Given the description of an element on the screen output the (x, y) to click on. 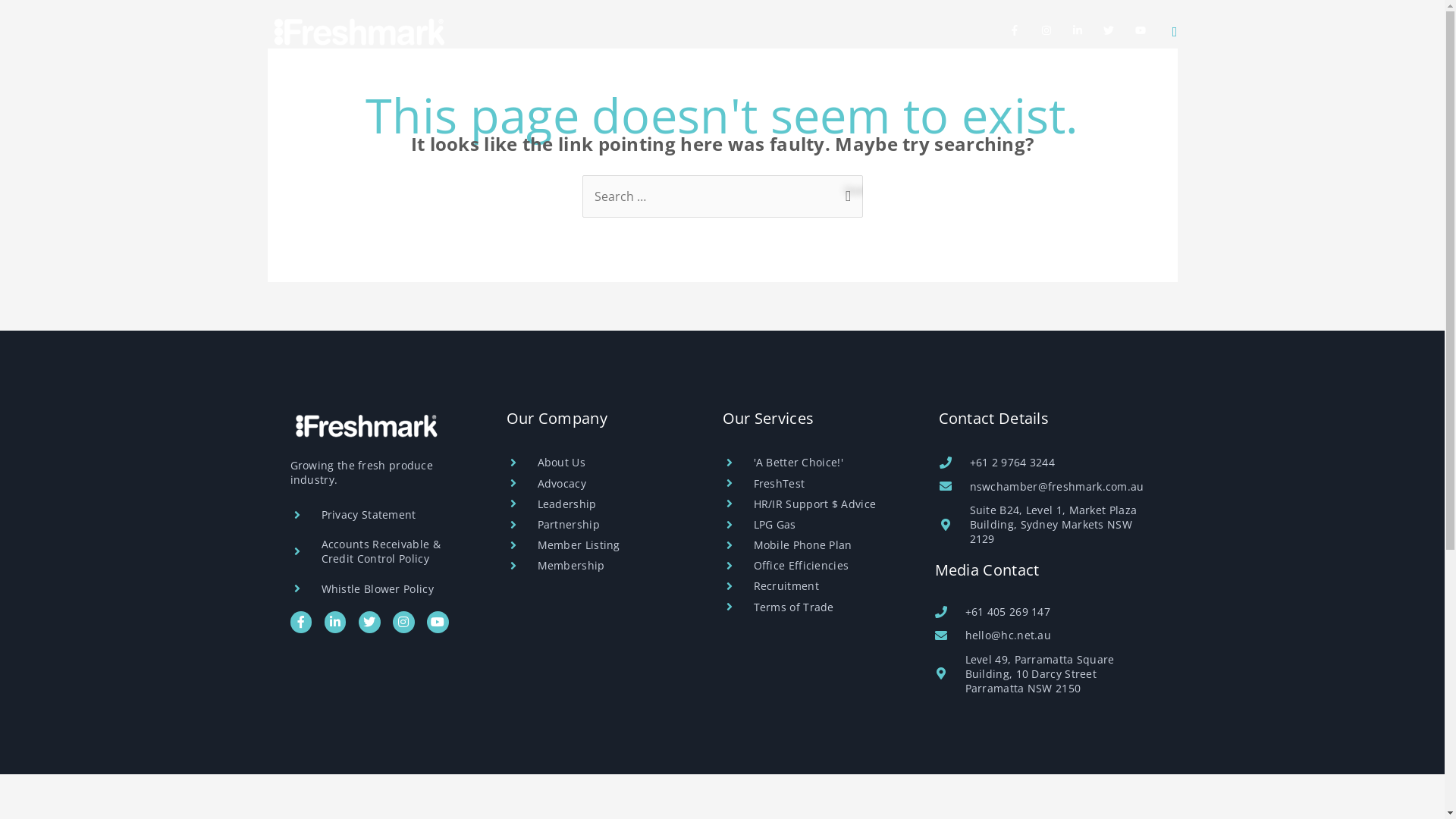
FreshTest Element type: text (814, 483)
Youtube Element type: text (437, 622)
Advocacy Element type: text (599, 483)
'A Better Choice!' Element type: text (814, 462)
Newsroom Element type: text (1037, 73)
Facebook-f Element type: text (300, 622)
Advocacy Element type: text (942, 73)
Sydney Markets Foundation Element type: text (797, 73)
Membership Element type: text (599, 565)
LPG Gas Element type: text (814, 524)
Accounts Receivable & Credit Control Policy Element type: text (382, 550)
Twitter Element type: text (369, 622)
Office Efficiencies Element type: text (814, 565)
About Element type: text (468, 73)
Contact Us Element type: text (1131, 73)
Search Element type: text (845, 190)
Instagram Element type: text (403, 622)
Services Element type: text (546, 73)
Mobile Phone Plan Element type: text (814, 544)
Home Element type: text (403, 73)
Membership Element type: text (643, 73)
Recruitment Element type: text (814, 585)
Terms of Trade Element type: text (814, 606)
Partnership Element type: text (599, 524)
Whistle Blower Policy Element type: text (382, 588)
Search Element type: text (1174, 32)
Leadership Element type: text (599, 503)
About Us Element type: text (599, 462)
Privacy Statement Element type: text (382, 514)
Member Listing Element type: text (599, 544)
Linkedin-in Element type: text (335, 622)
